Given the description of an element on the screen output the (x, y) to click on. 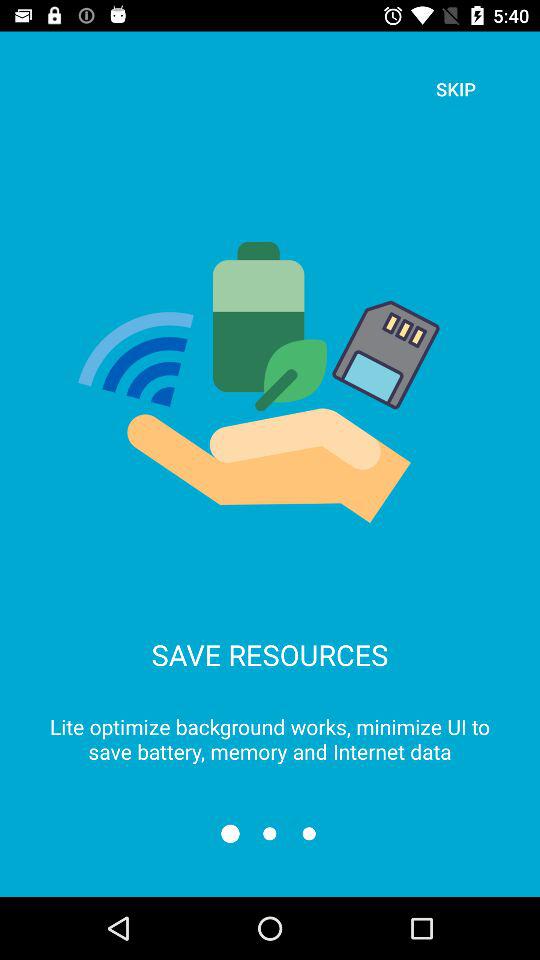
go to final screen (308, 833)
